Given the description of an element on the screen output the (x, y) to click on. 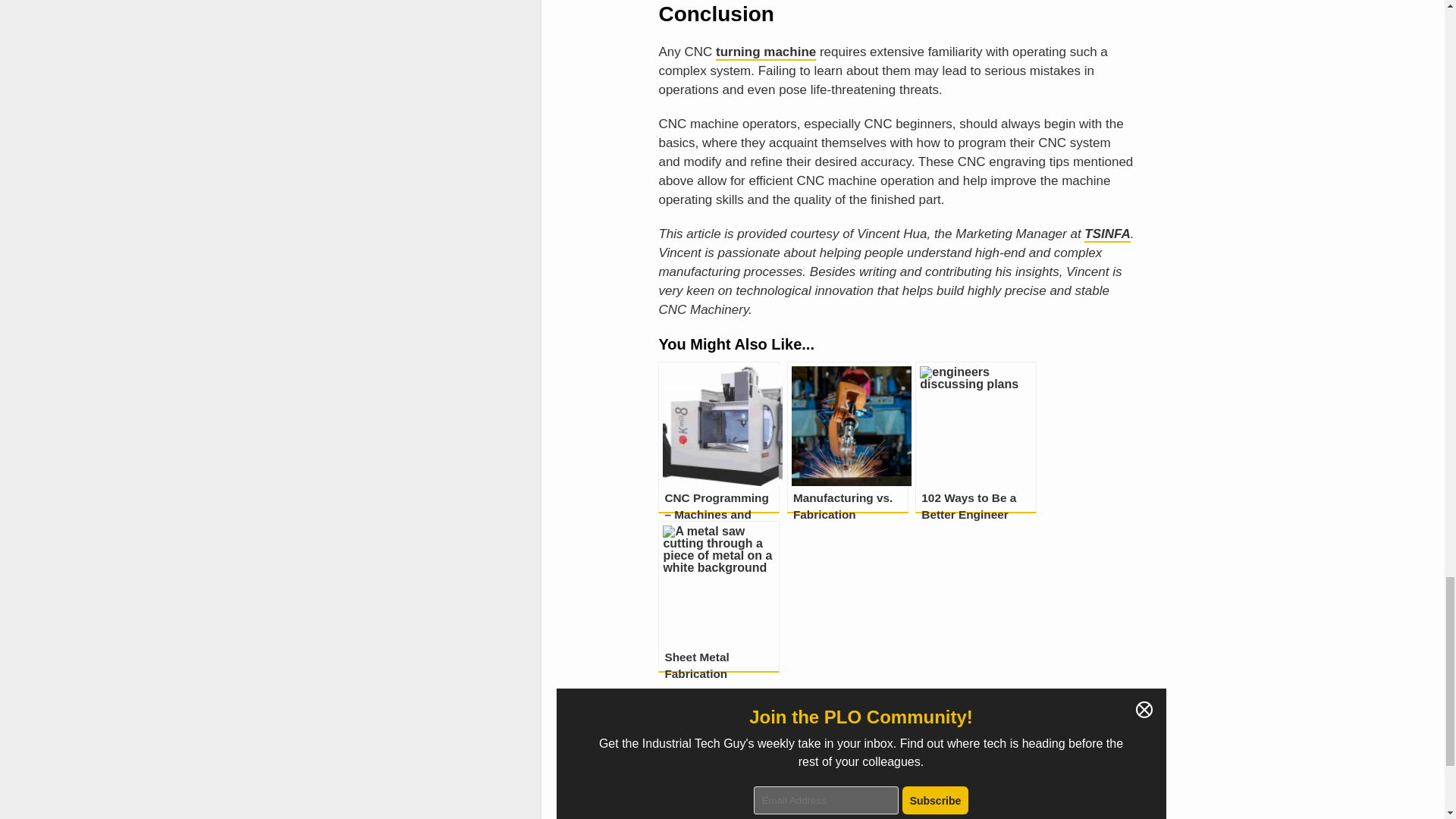
TSINFA (1106, 234)
turning machine (765, 52)
Subscribe (935, 800)
